Given the description of an element on the screen output the (x, y) to click on. 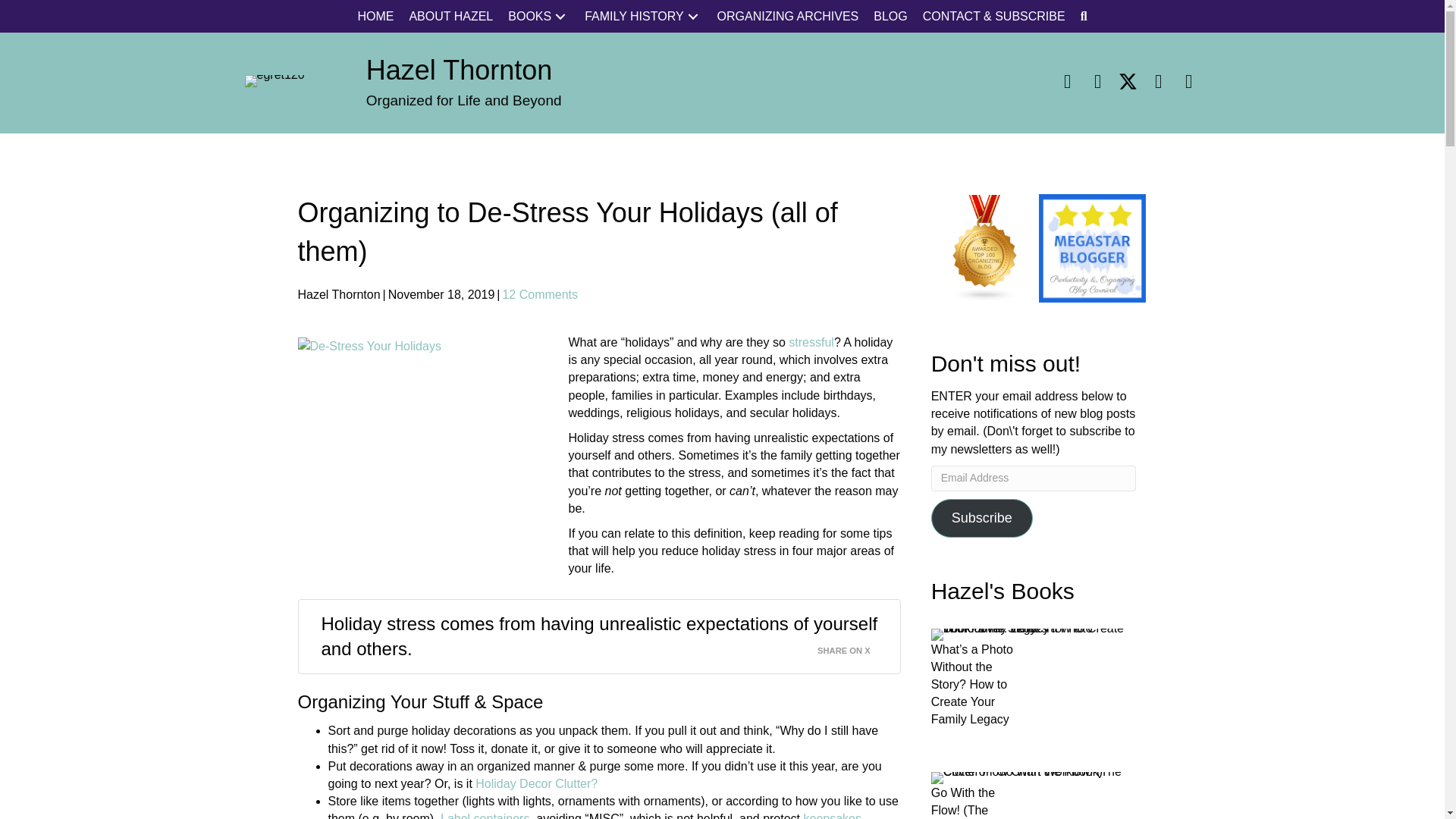
ABOUT HAZEL (450, 16)
BLOG (890, 16)
FAMILY HISTORY (642, 16)
YouTube (1187, 80)
LinkedIn (1097, 80)
Pinterest (1158, 80)
egret120 (274, 80)
HOME (375, 16)
Facebook (1066, 80)
ORGANIZING ARCHIVES (788, 16)
